Given the description of an element on the screen output the (x, y) to click on. 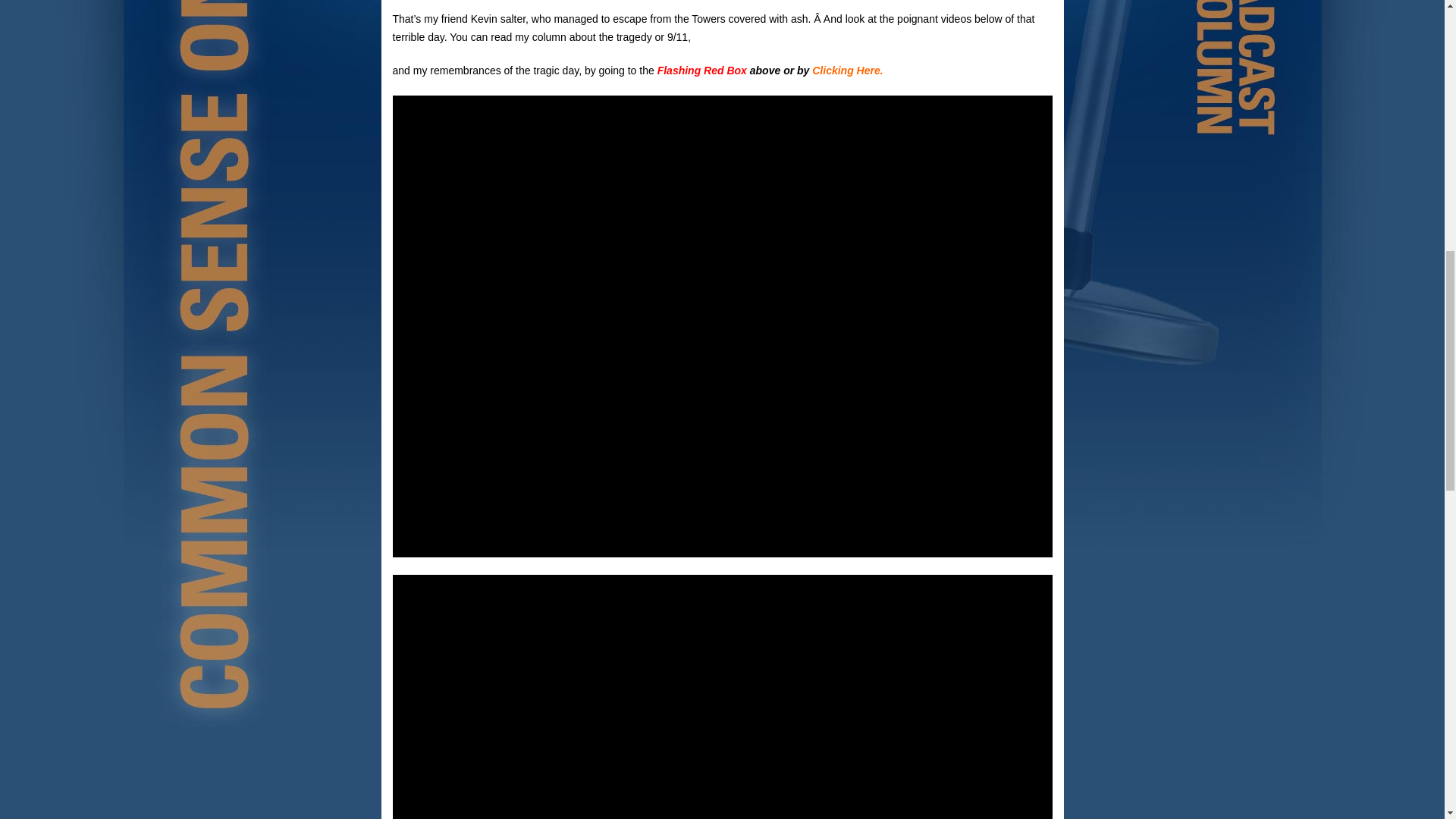
Clicking Here. (847, 70)
